Given the description of an element on the screen output the (x, y) to click on. 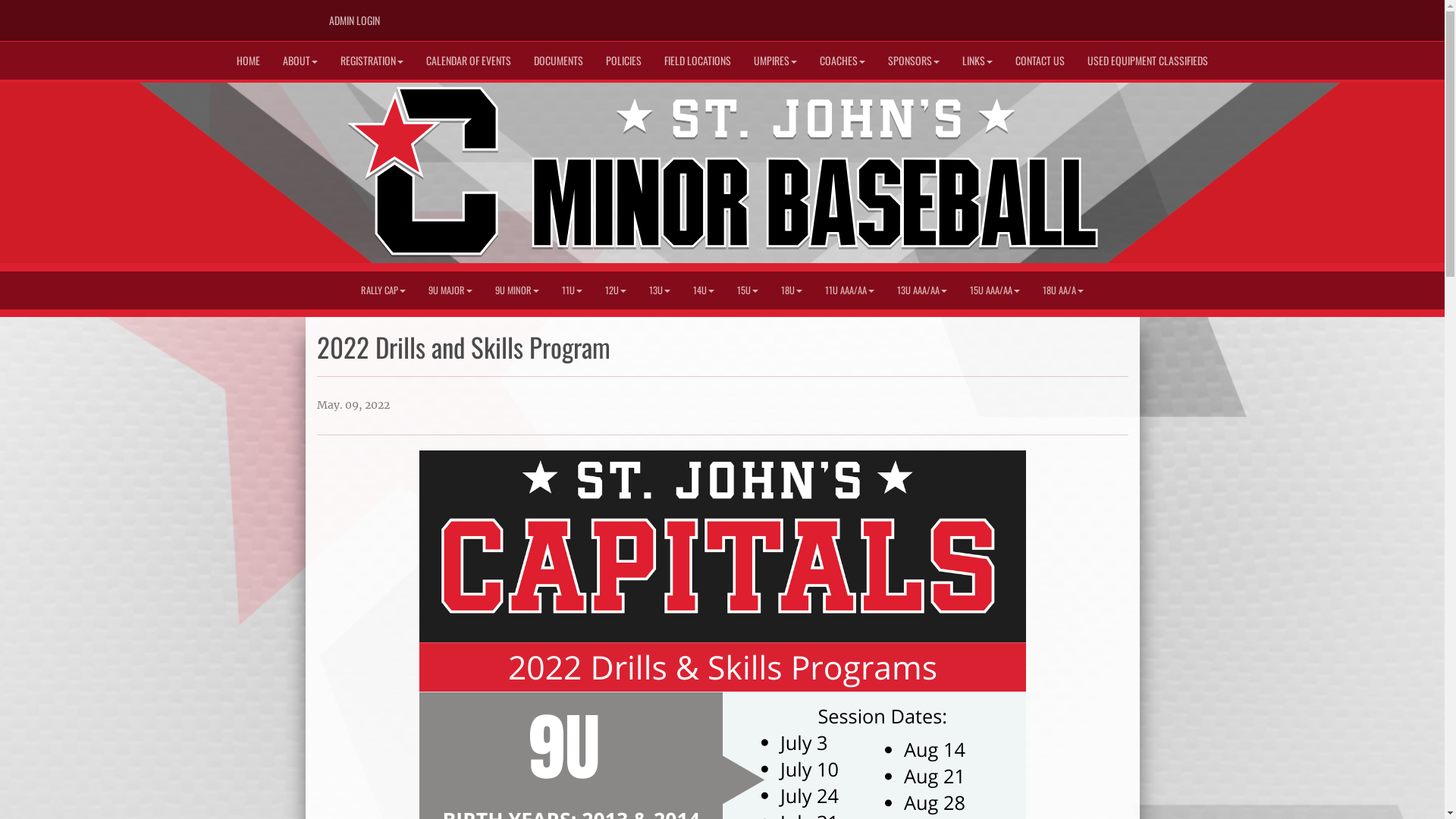
RALLY CAP Element type: text (383, 290)
12U Element type: text (615, 290)
SPONSORS Element type: text (913, 60)
COACHES Element type: text (842, 60)
13U AAA/AA Element type: text (921, 290)
DOCUMENTS Element type: text (558, 60)
HOME Element type: text (248, 60)
11U Element type: text (571, 290)
9U MINOR Element type: text (516, 290)
ABOUT Element type: text (300, 60)
FIELD LOCATIONS Element type: text (697, 60)
USED EQUIPMENT CLASSIFIEDS Element type: text (1147, 60)
Twitter Element type: text (1084, 15)
REGISTRATION Element type: text (371, 60)
Facebook Element type: text (1061, 15)
15U AAA/AA Element type: text (994, 290)
13U Element type: text (659, 290)
9U MAJOR Element type: text (450, 290)
POLICIES Element type: text (623, 60)
UMPIRES Element type: text (775, 60)
14U Element type: text (703, 290)
CALENDAR OF EVENTS Element type: text (468, 60)
Instagram Element type: text (1106, 15)
11U AAA/AA Element type: text (849, 290)
LINKS Element type: text (977, 60)
 ADMIN LOGIN
ADMIN LOGIN Element type: text (352, 20)
18U AA/A Element type: text (1063, 290)
18U Element type: text (791, 290)
15U Element type: text (747, 290)
CONTACT US Element type: text (1040, 60)
